Given the description of an element on the screen output the (x, y) to click on. 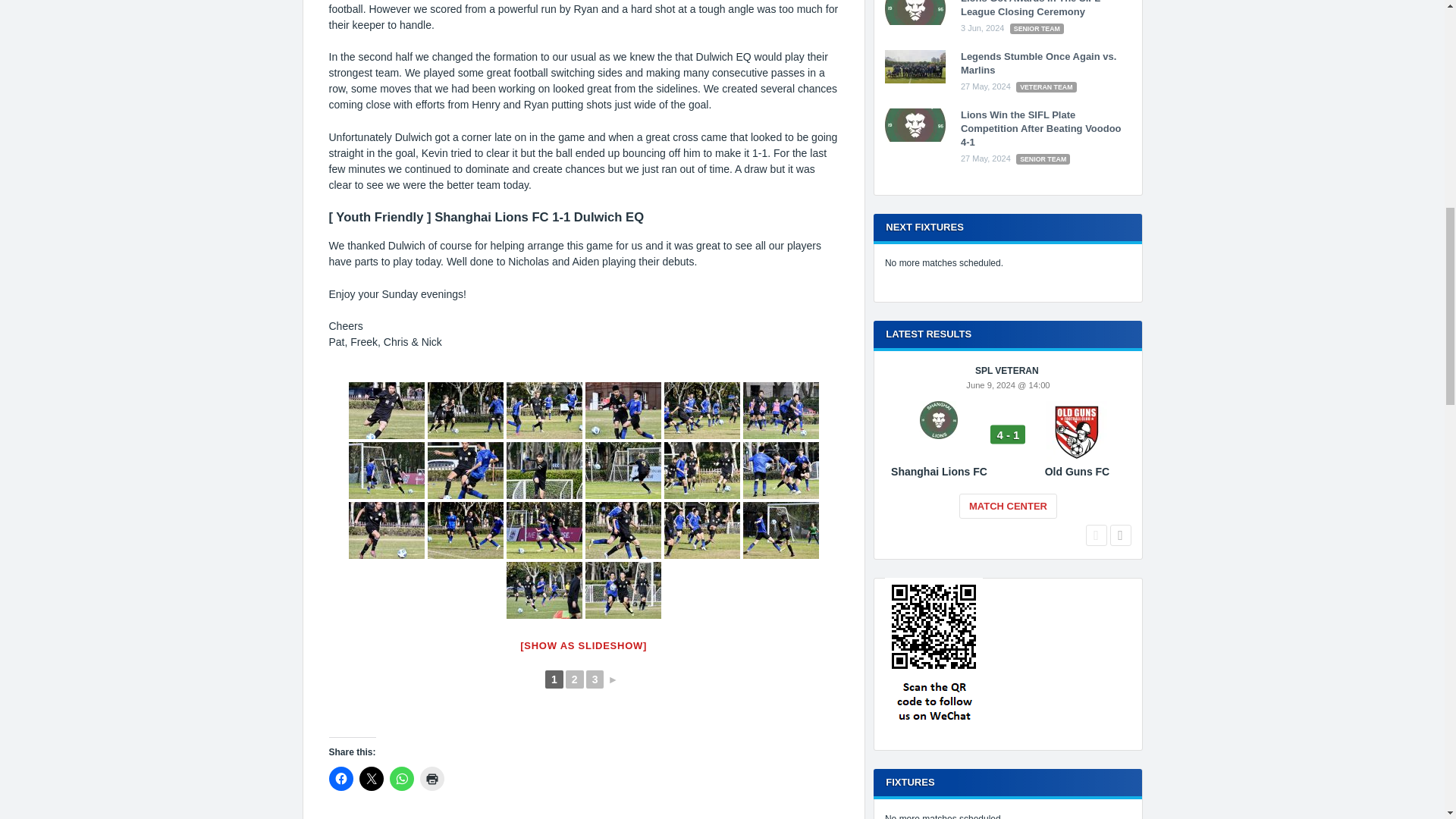
2 (574, 679)
